Given the description of an element on the screen output the (x, y) to click on. 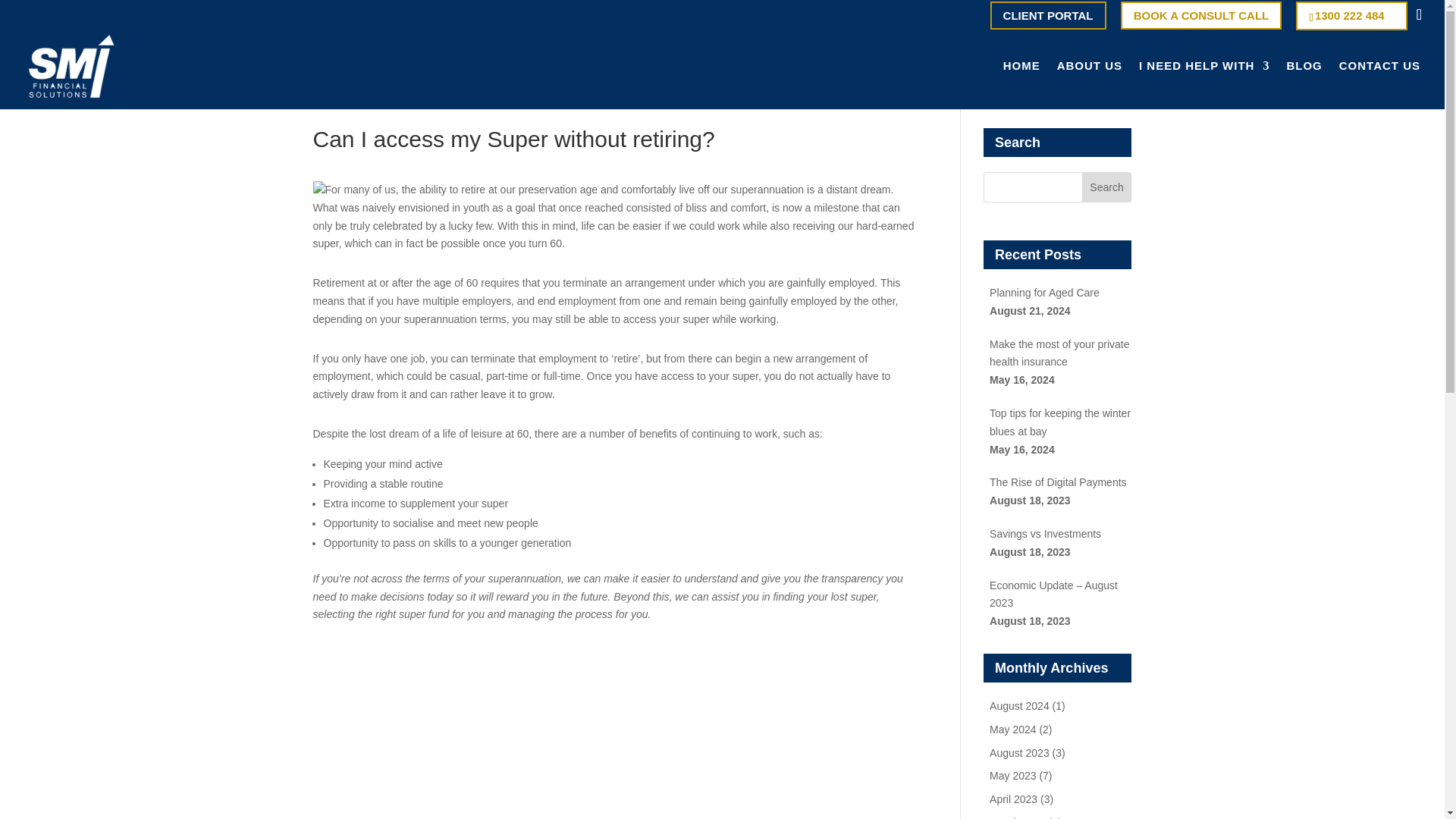
May 2023 (1012, 775)
Savings vs Investments (1045, 533)
May 2024 (1012, 729)
BOOK A CONSULT CALL (1201, 15)
CONTACT US (1380, 84)
1300 222 484 (1350, 15)
Search (1106, 186)
March 2023 (1017, 817)
Search (1106, 186)
ABOUT US (1089, 84)
